Given the description of an element on the screen output the (x, y) to click on. 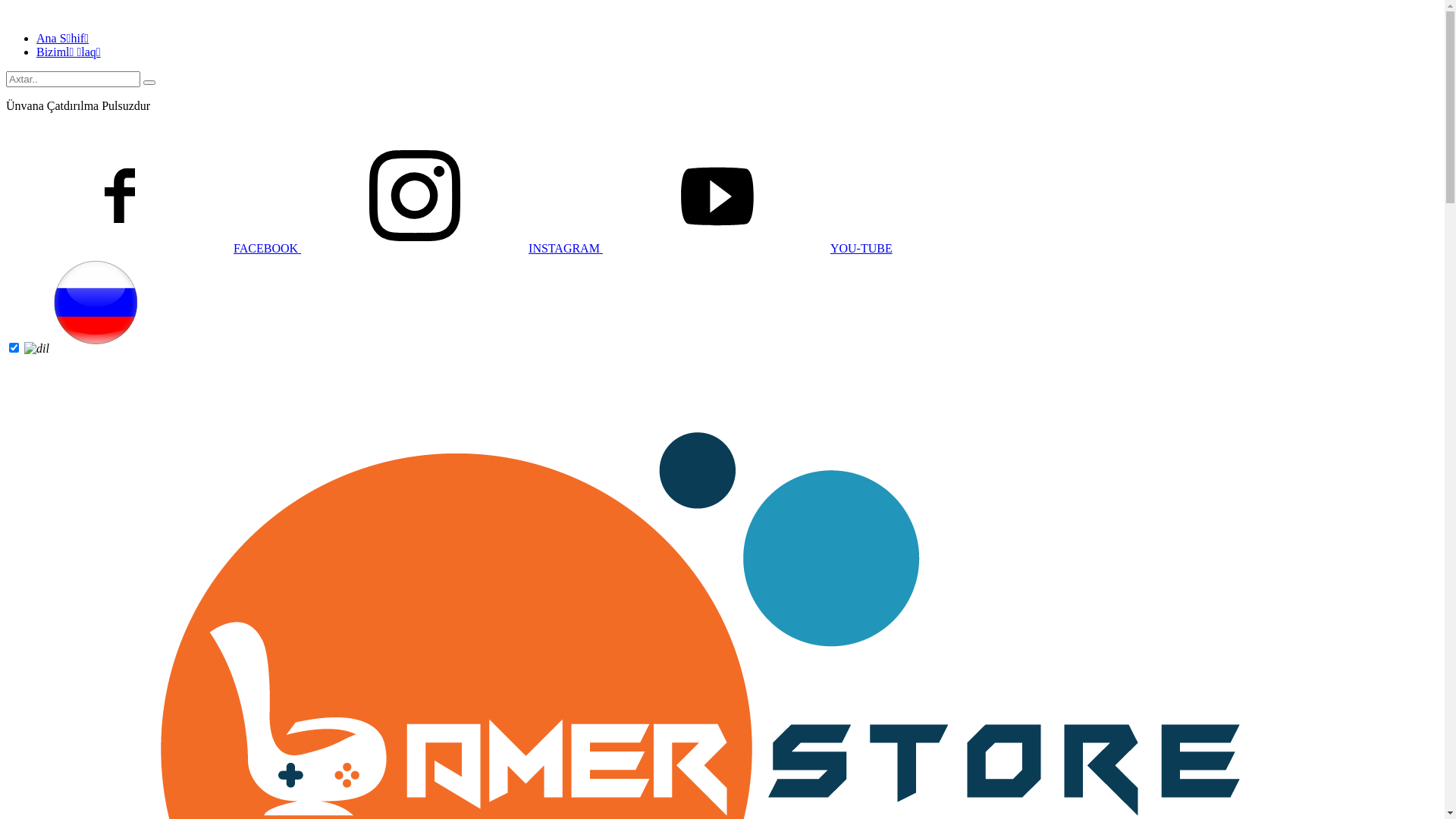
FACEBOOK Element type: text (153, 247)
INSTAGRAM Element type: text (451, 247)
YOU-TUBE Element type: text (747, 247)
